Given the description of an element on the screen output the (x, y) to click on. 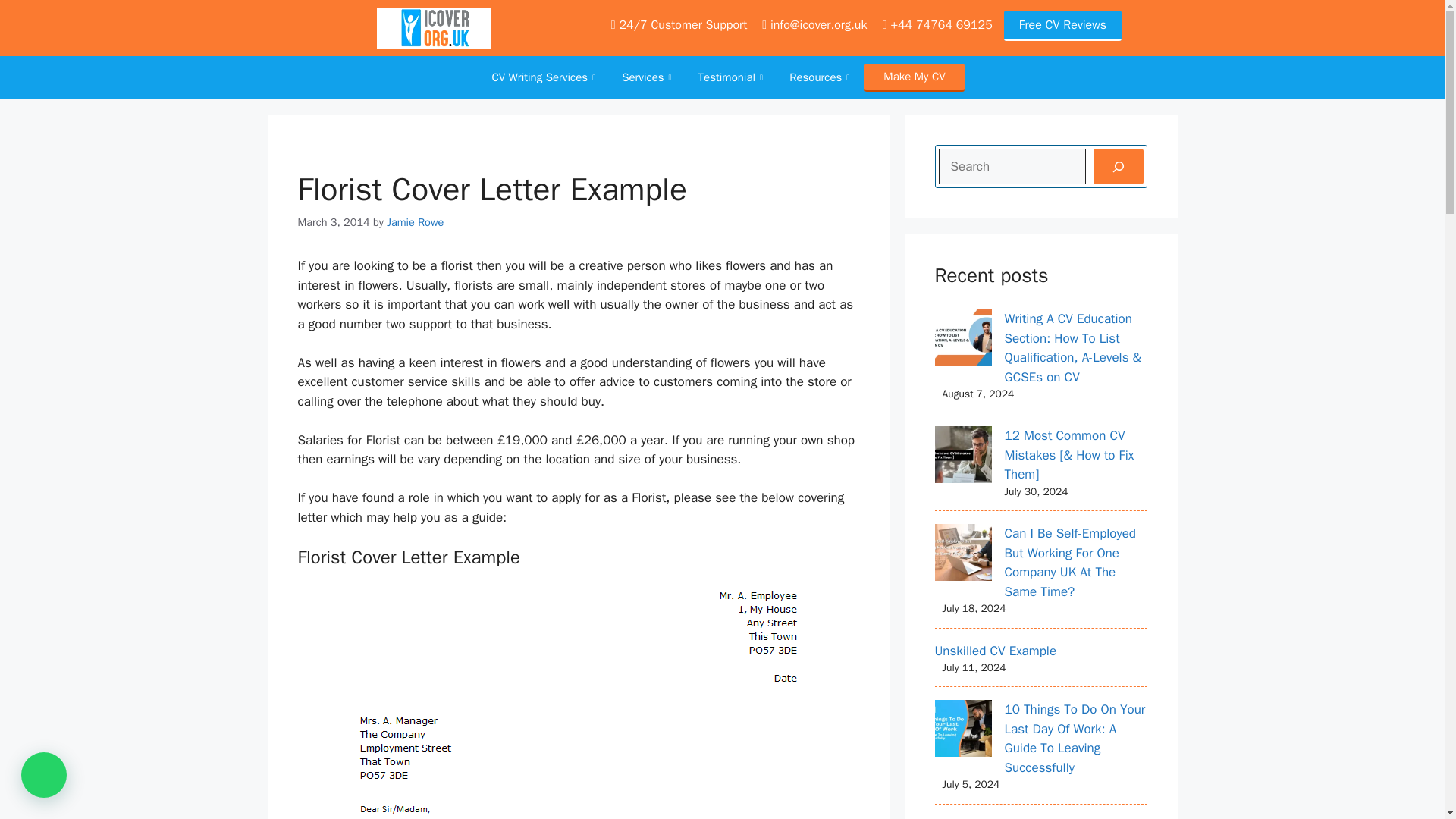
Free CV Reviews (1062, 25)
CV Writing Services (545, 77)
View all posts by Jamie Rowe (415, 222)
